Given the description of an element on the screen output the (x, y) to click on. 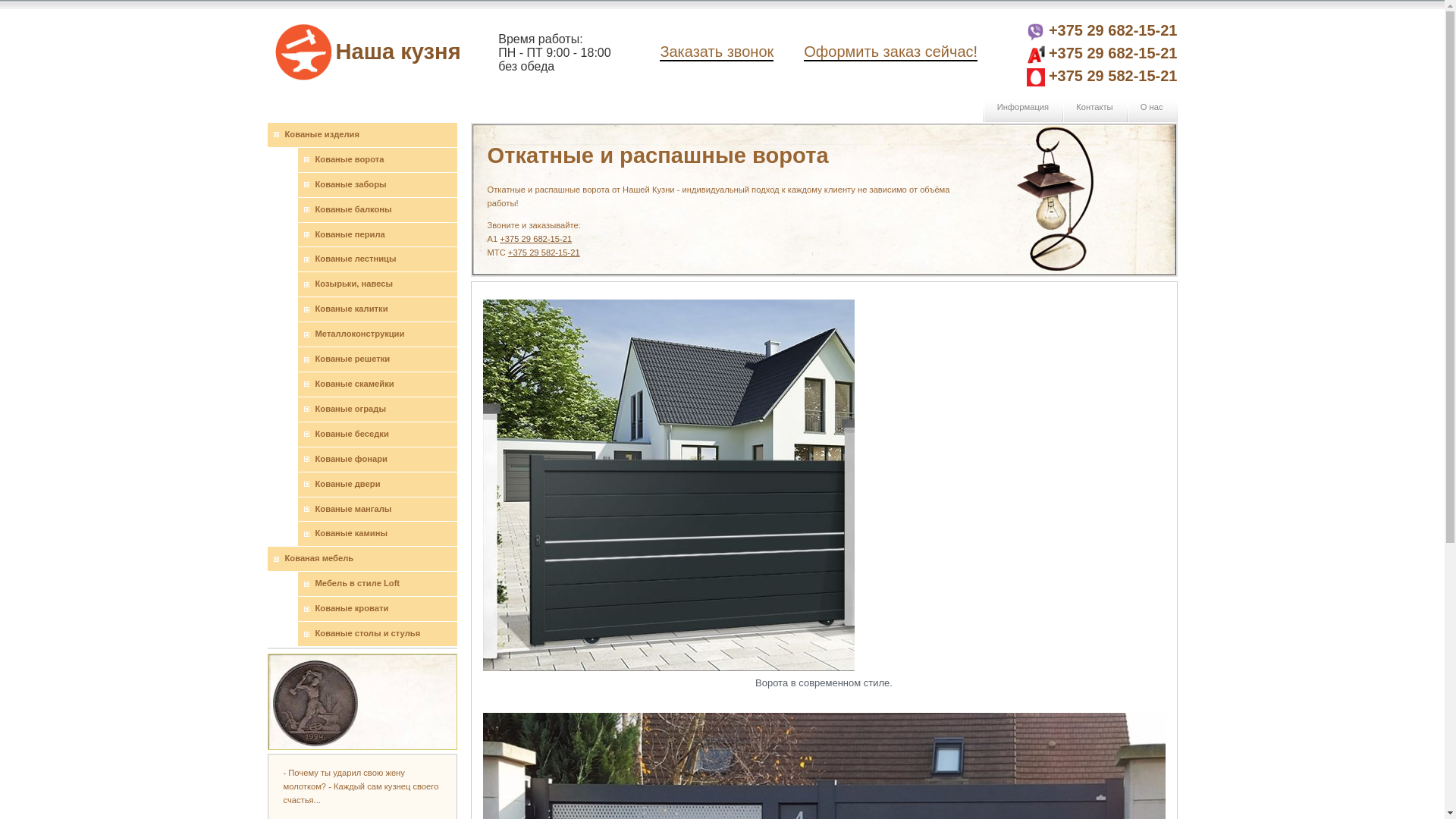
+375 29 582-15-21 Element type: text (544, 252)
+375 29 582-15-21 Element type: text (1112, 75)
+375 29 682-15-21 Element type: text (1112, 29)
+375 29 682-15-21 Element type: text (535, 238)
+375 29 682-15-21 Element type: text (1112, 52)
